Given the description of an element on the screen output the (x, y) to click on. 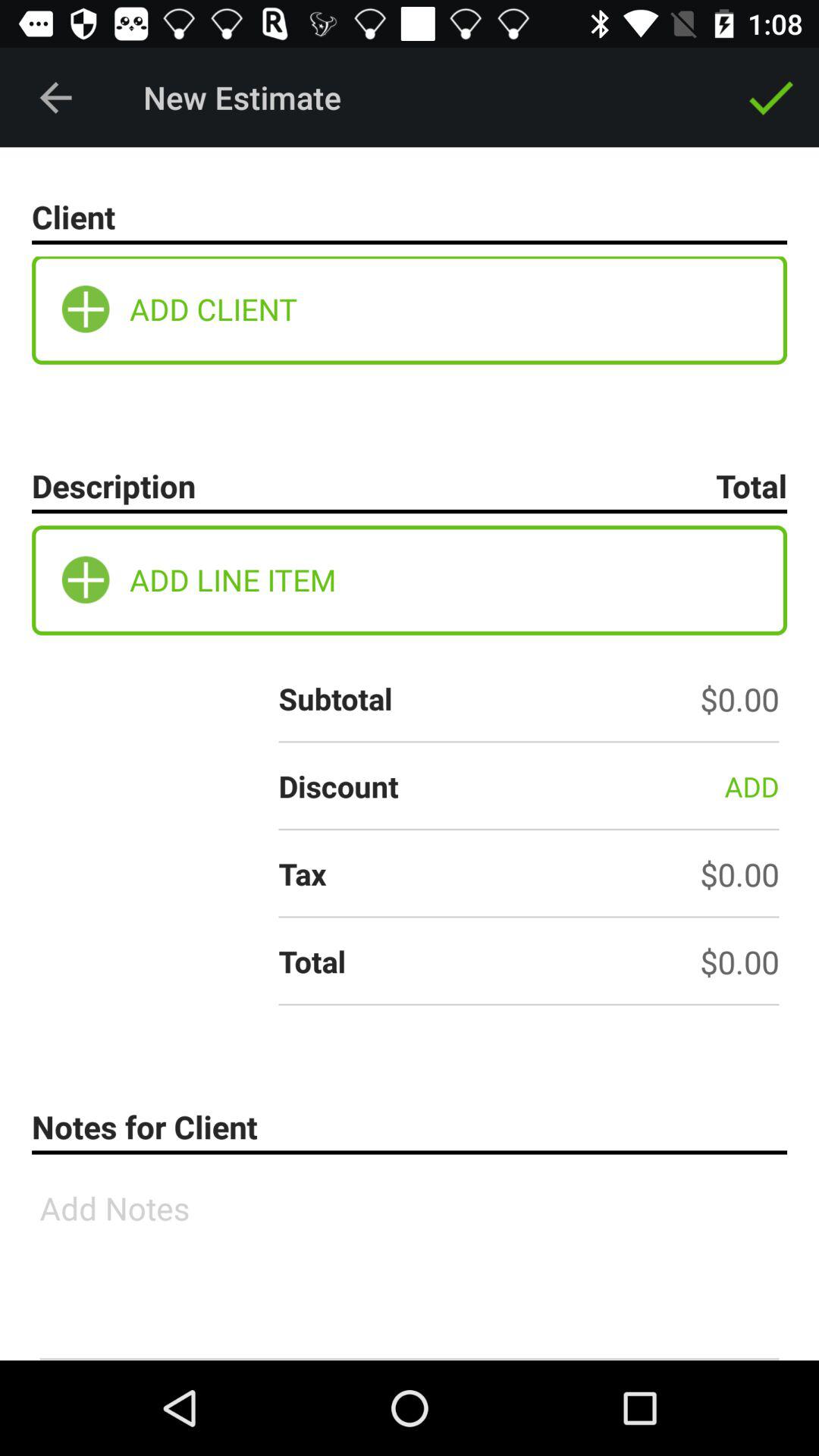
turn off item next to new estimate item (55, 97)
